Given the description of an element on the screen output the (x, y) to click on. 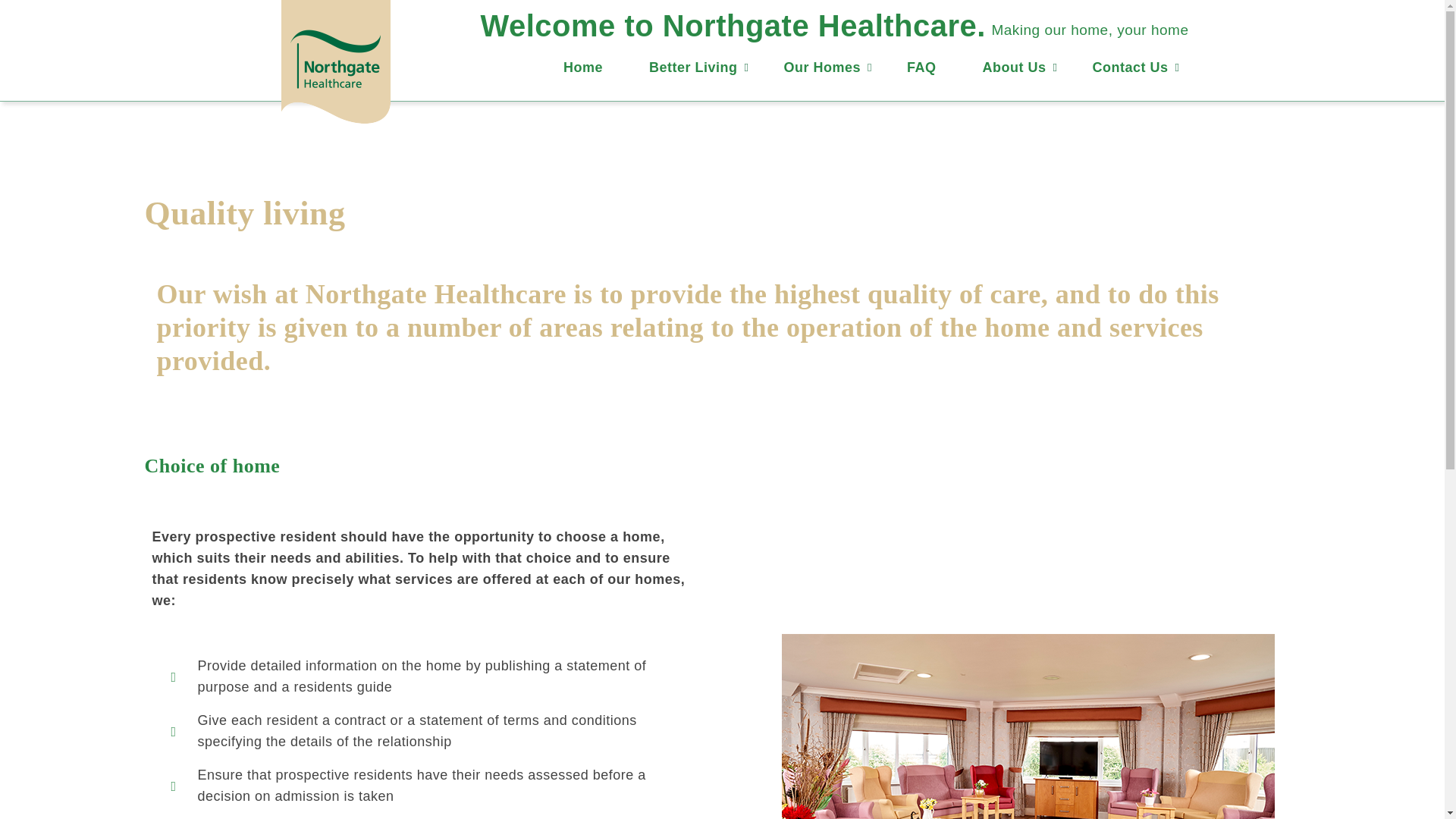
Home (583, 67)
Contact Us (1129, 67)
Better Living (693, 67)
About Us (1012, 67)
Our Homes (821, 67)
FAQ (921, 67)
